Given the description of an element on the screen output the (x, y) to click on. 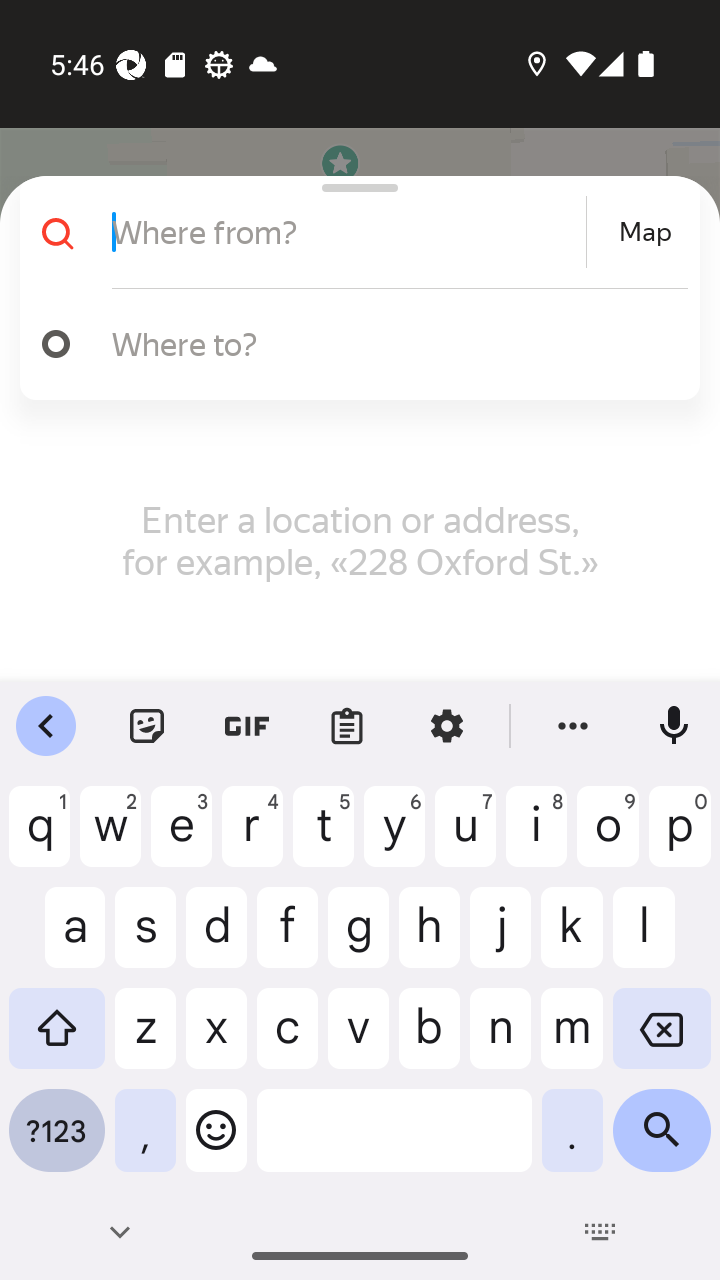
Where from? Map Map (352, 232)
Map (645, 232)
Where from? (346, 232)
Where to? (352, 343)
Where to? (390, 343)
